Given the description of an element on the screen output the (x, y) to click on. 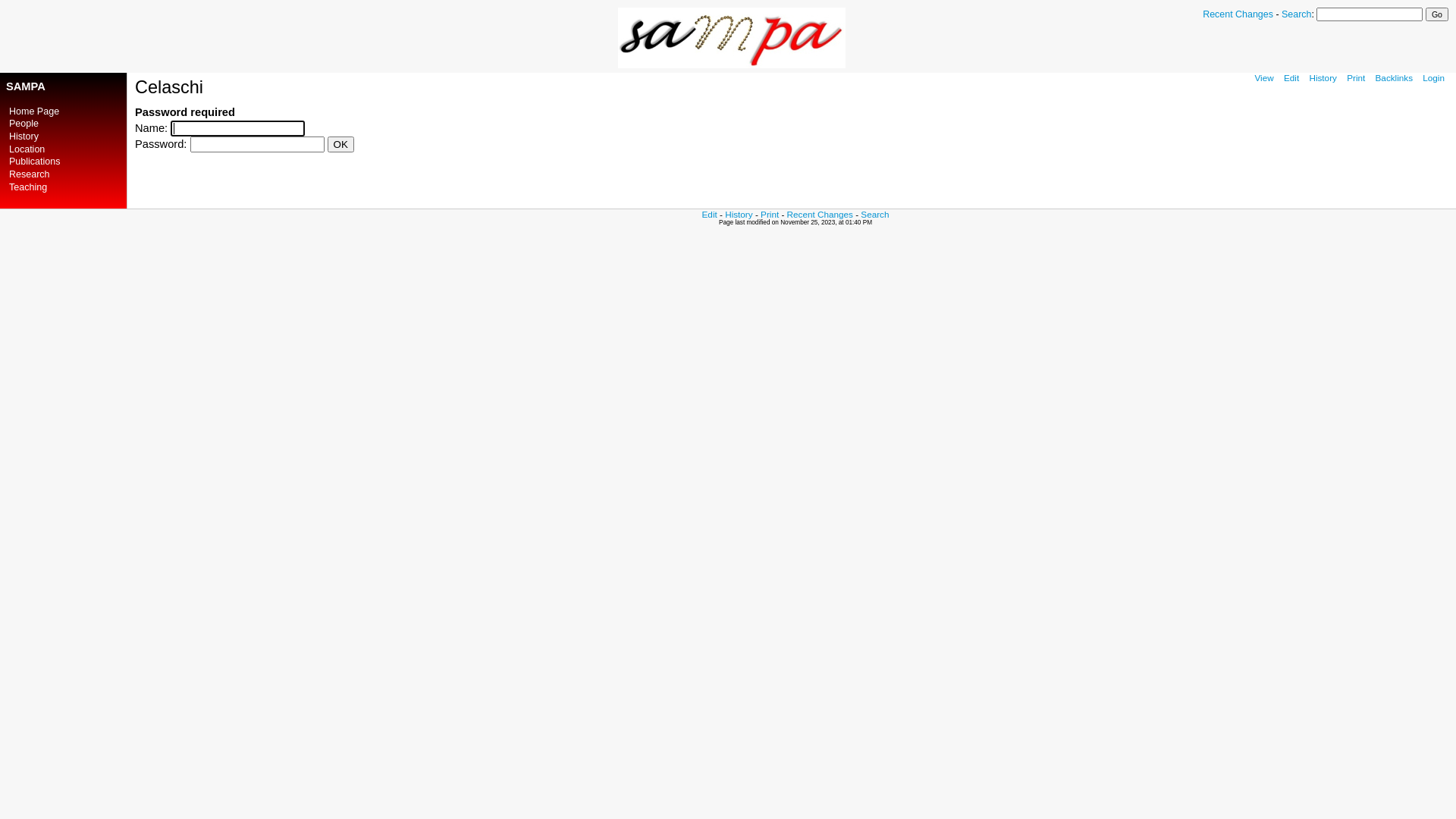
History Element type: text (1322, 77)
Teaching Element type: text (28, 187)
Home Page Element type: text (34, 111)
People Element type: text (23, 123)
Recent Changes Element type: text (1237, 14)
Edit Element type: text (1291, 77)
Edit Element type: text (709, 214)
Go Element type: text (1436, 14)
Print Element type: text (769, 214)
History Element type: text (738, 214)
Research Element type: text (29, 174)
Print Element type: text (1355, 77)
Backlinks Element type: text (1394, 77)
Recent Changes Element type: text (820, 214)
History Element type: text (23, 136)
Publications Element type: text (34, 161)
Search Element type: text (874, 214)
OK Element type: text (340, 144)
Login Element type: text (1433, 77)
View Element type: text (1263, 77)
Search Element type: text (1296, 14)
Location Element type: text (26, 149)
